Given the description of an element on the screen output the (x, y) to click on. 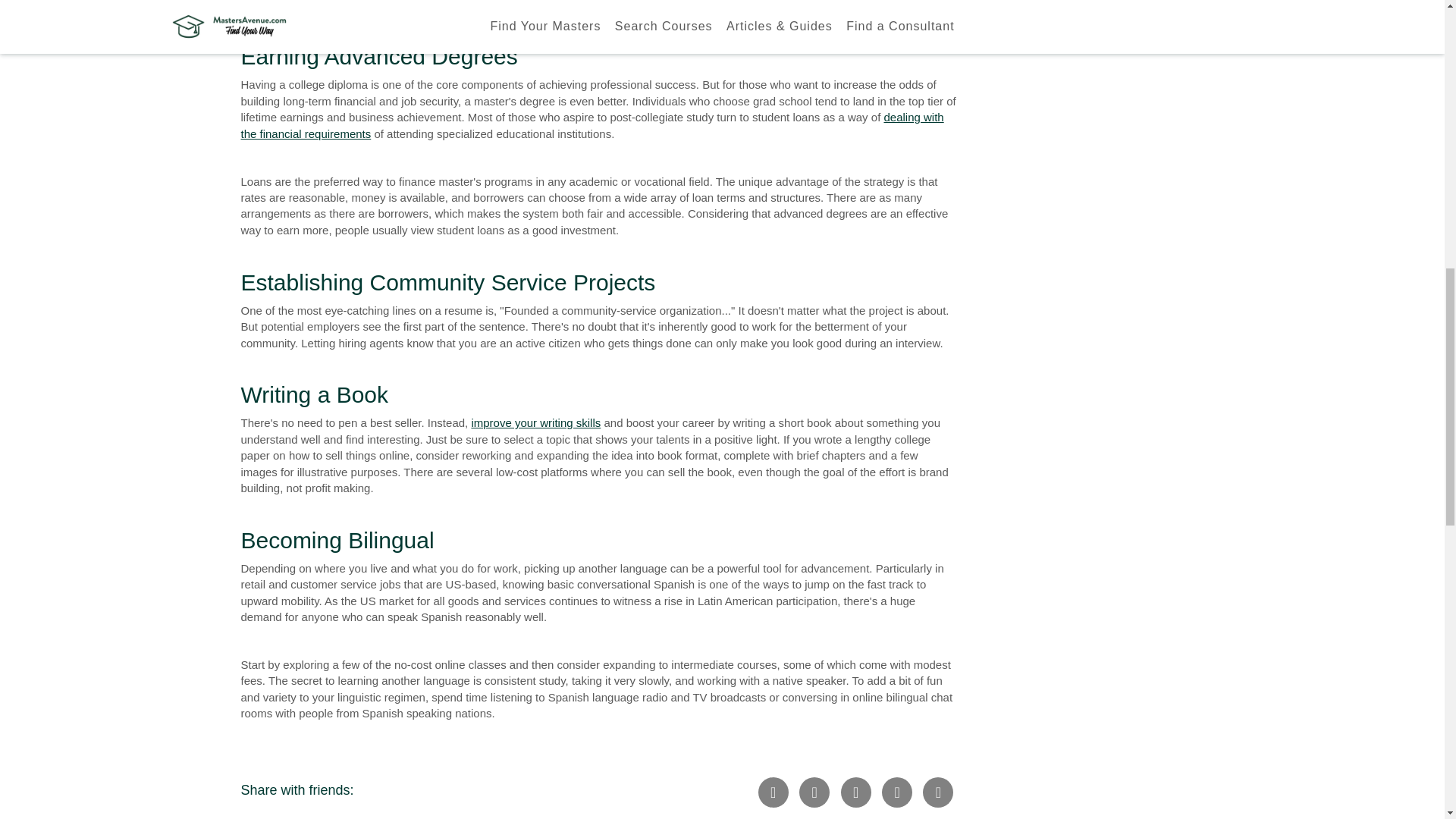
improve your writing skills (534, 422)
dealing with the financial requirements (592, 124)
